Given the description of an element on the screen output the (x, y) to click on. 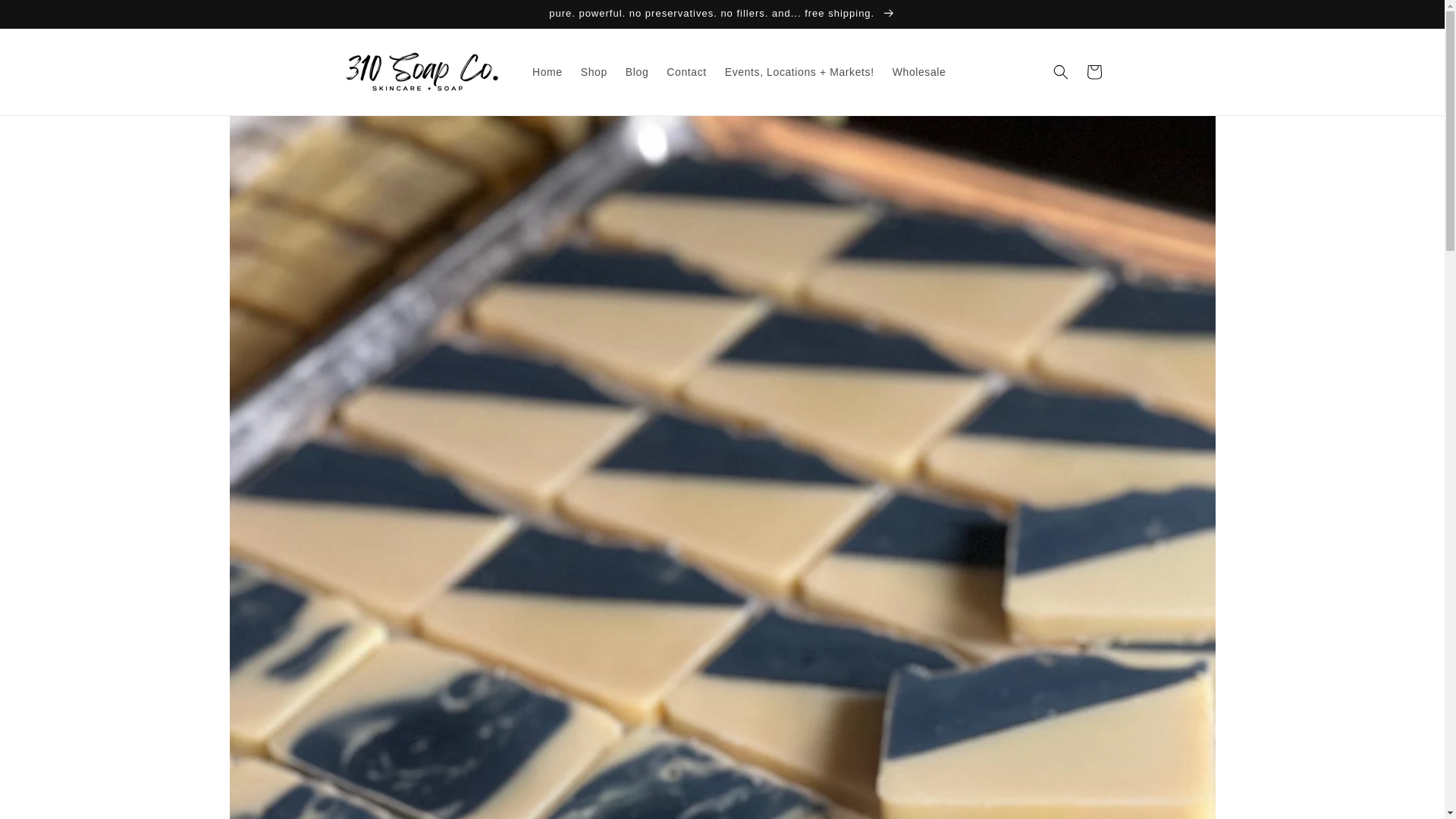
Skip to content (45, 17)
Blog (636, 71)
Cart (1093, 71)
Contact (686, 71)
Shop (593, 71)
Home (547, 71)
Wholesale (919, 71)
